Given the description of an element on the screen output the (x, y) to click on. 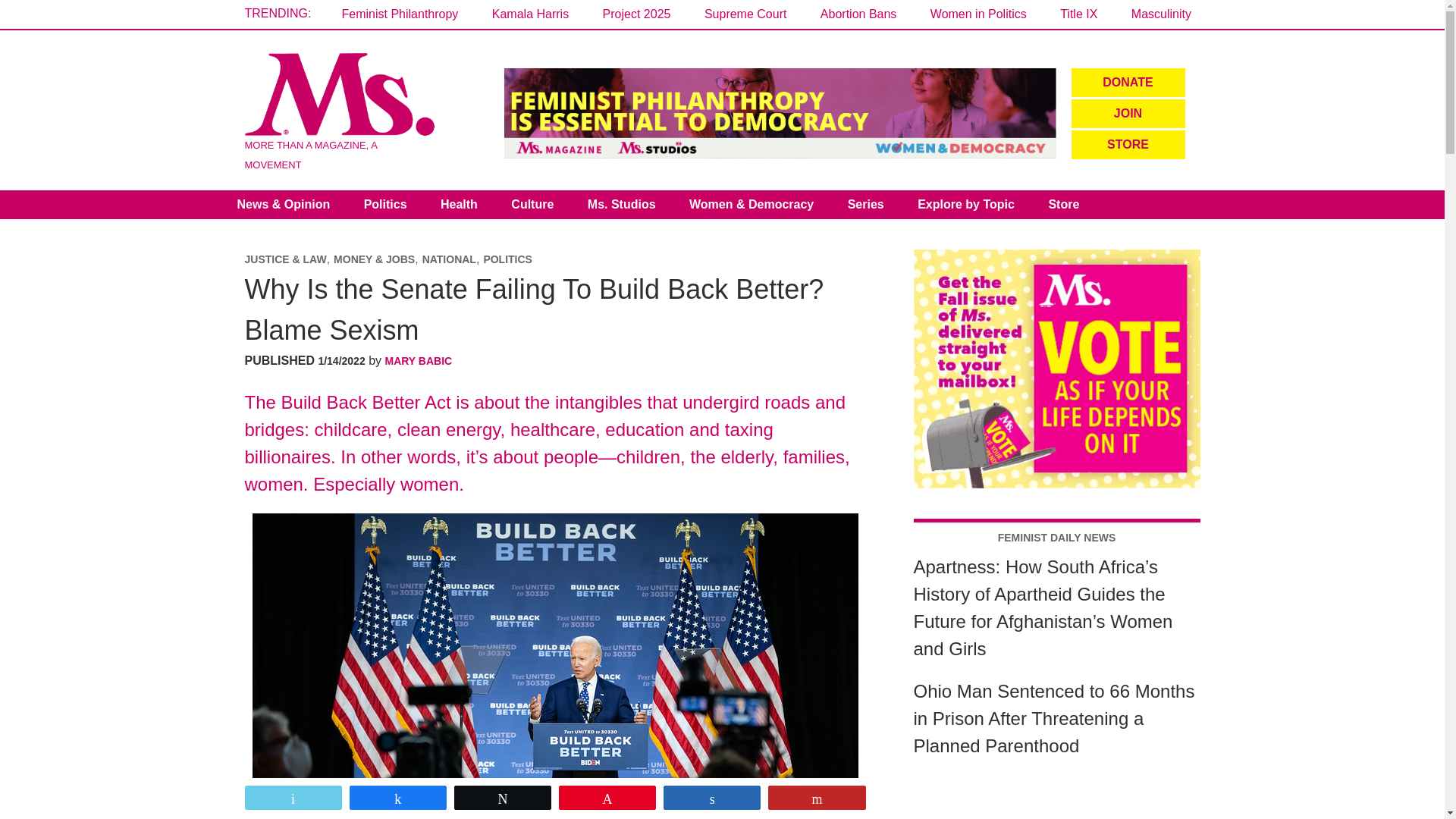
Abortion Bans (858, 13)
Feminist Philanthropy (399, 13)
Women in Politics (978, 13)
JOIN (1127, 113)
Health (459, 204)
Explore by Topic (965, 204)
Culture (532, 204)
NATIONAL (449, 259)
Politics (385, 204)
Supreme Court (745, 13)
